Given the description of an element on the screen output the (x, y) to click on. 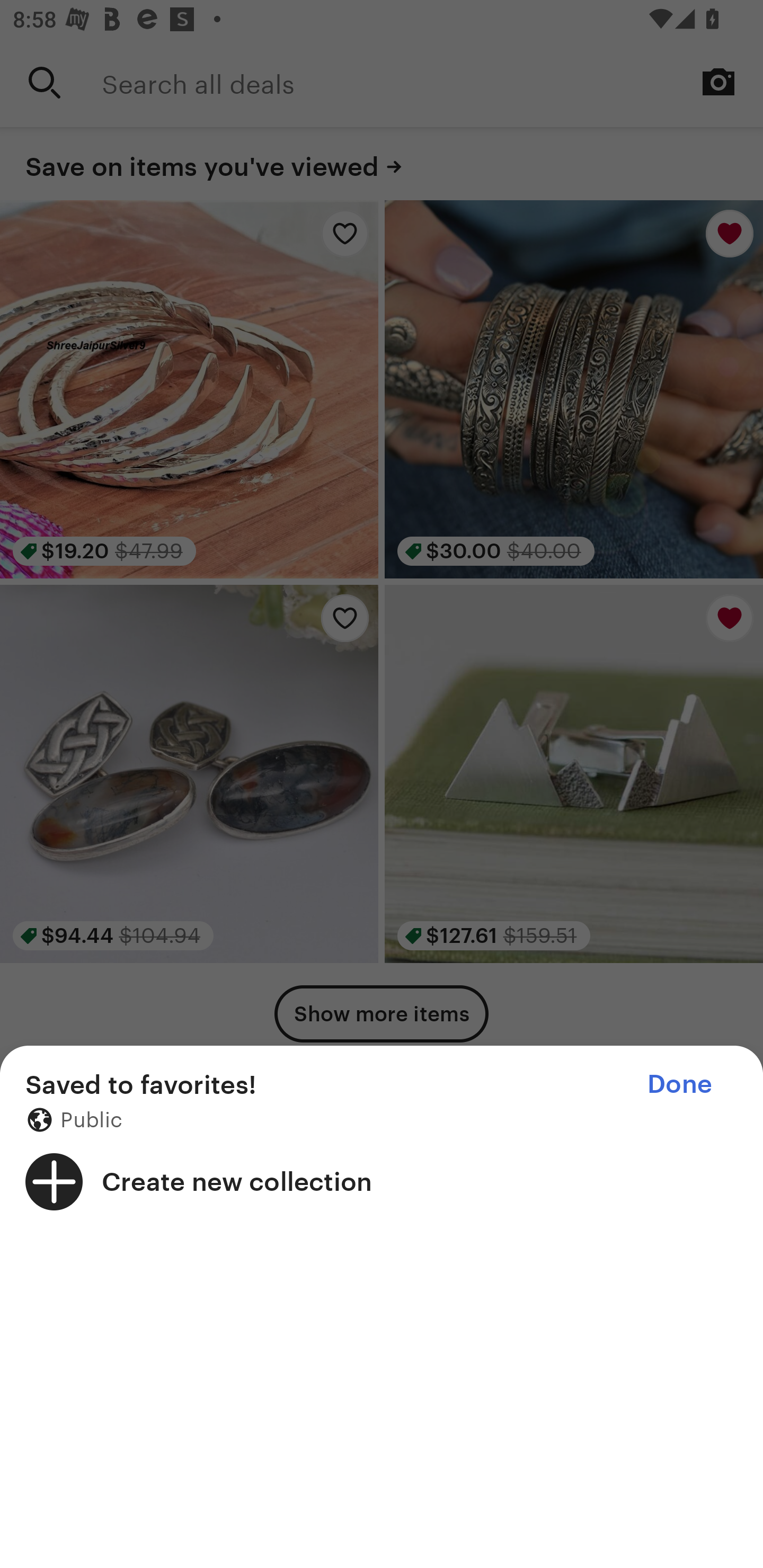
Done (679, 1083)
Create new collection (381, 1181)
